Given the description of an element on the screen output the (x, y) to click on. 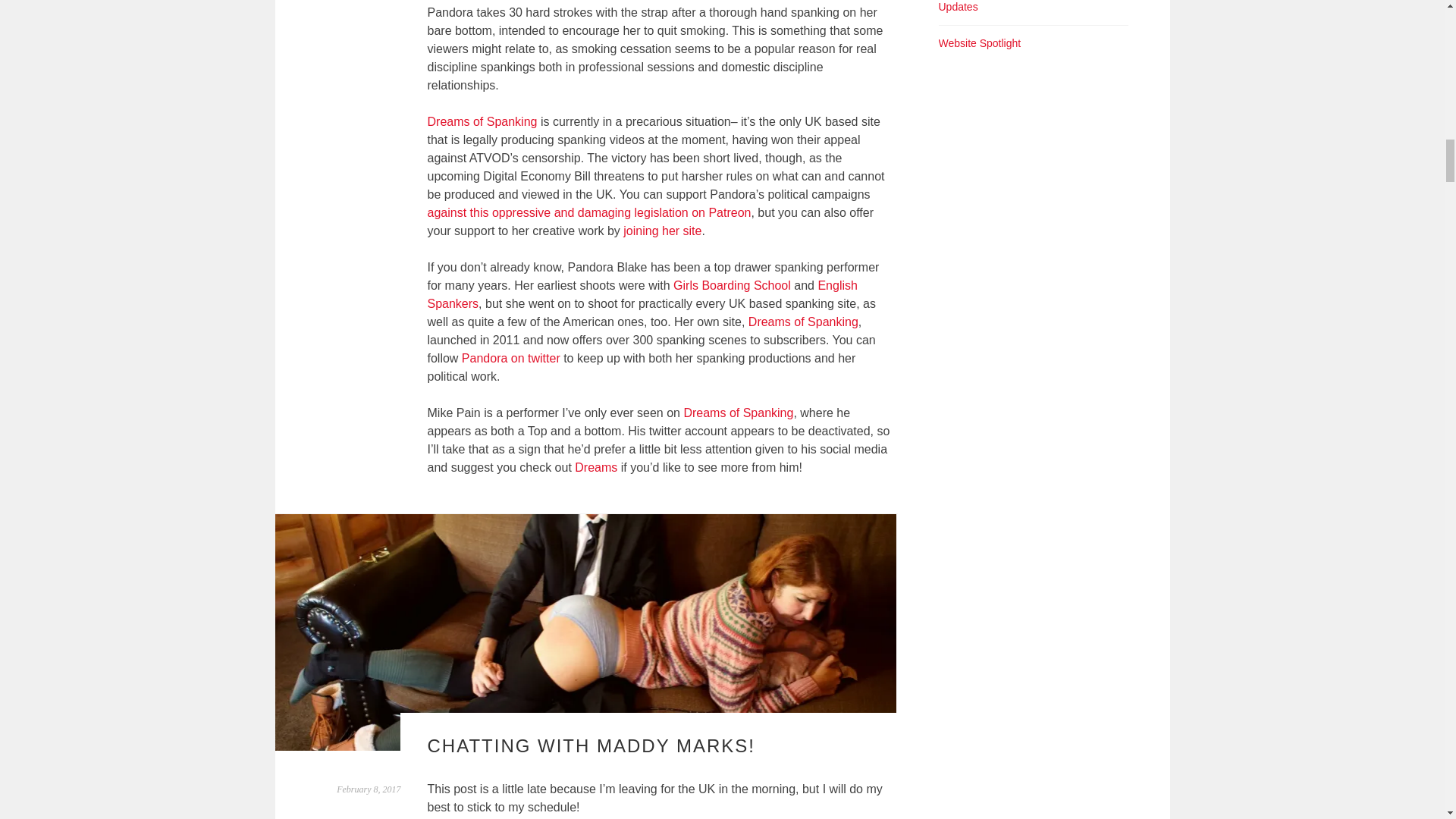
Dreams of Spanking (482, 121)
against this oppressive and damaging legislation on Patreon (589, 212)
Girls Boarding School (731, 285)
Permalink to Chatting with Maddy Marks! (368, 788)
Pandora on twitter (510, 358)
joining her site (662, 230)
CHATTING WITH MADDY MARKS! (591, 745)
Dreams (597, 467)
February 8, 2017 (368, 788)
English Spankers (642, 294)
Dreams of Spanking (737, 412)
Dreams of Spanking (803, 321)
